Given the description of an element on the screen output the (x, y) to click on. 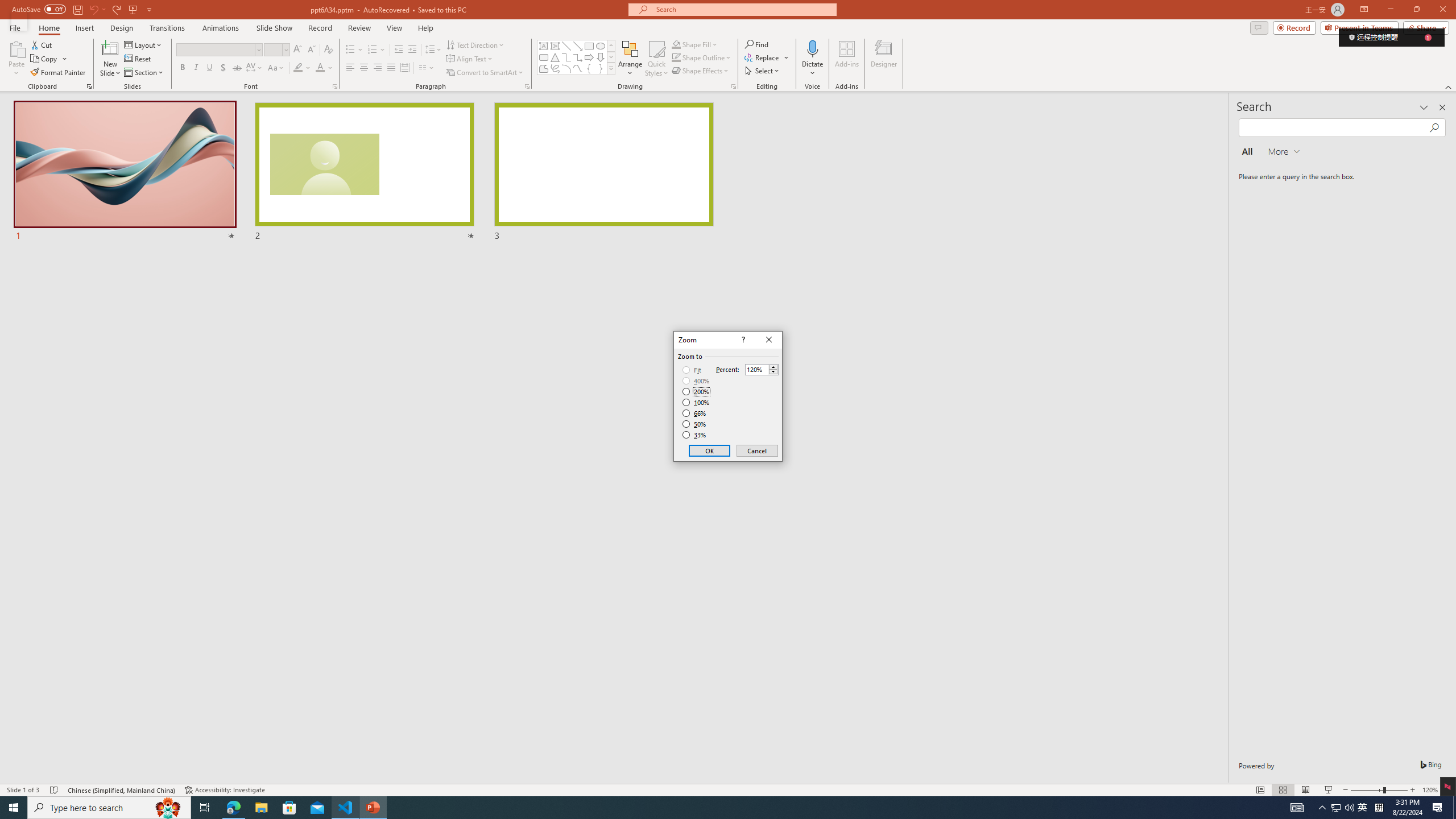
Select (762, 69)
Shapes (611, 68)
Oval (600, 45)
Increase Indent (412, 49)
Decrease Font Size (310, 49)
Strikethrough (237, 67)
Format Painter (58, 72)
Shadow (223, 67)
Bold (182, 67)
Arrow: Down (600, 57)
